Given the description of an element on the screen output the (x, y) to click on. 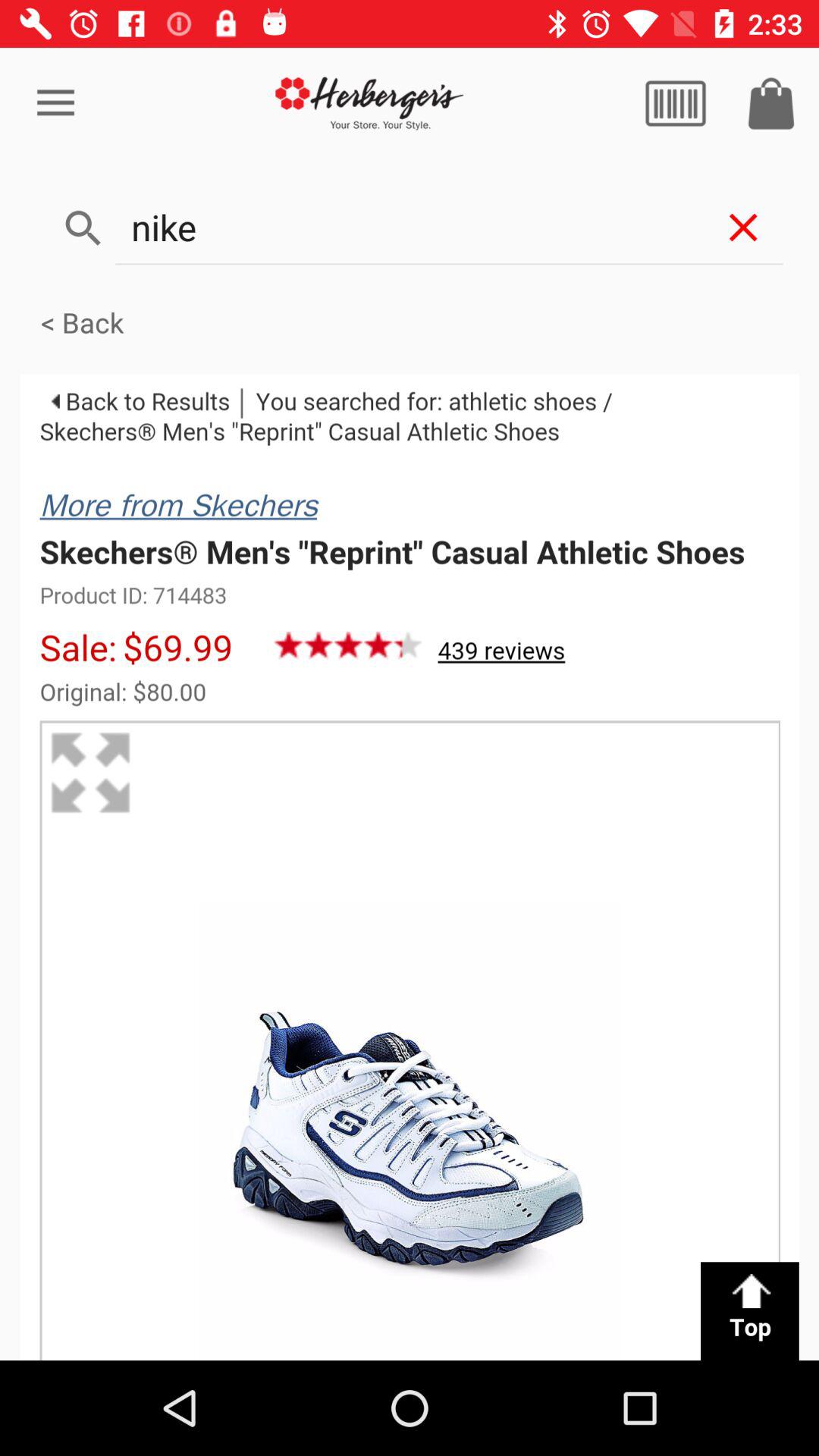
image description (409, 867)
